Given the description of an element on the screen output the (x, y) to click on. 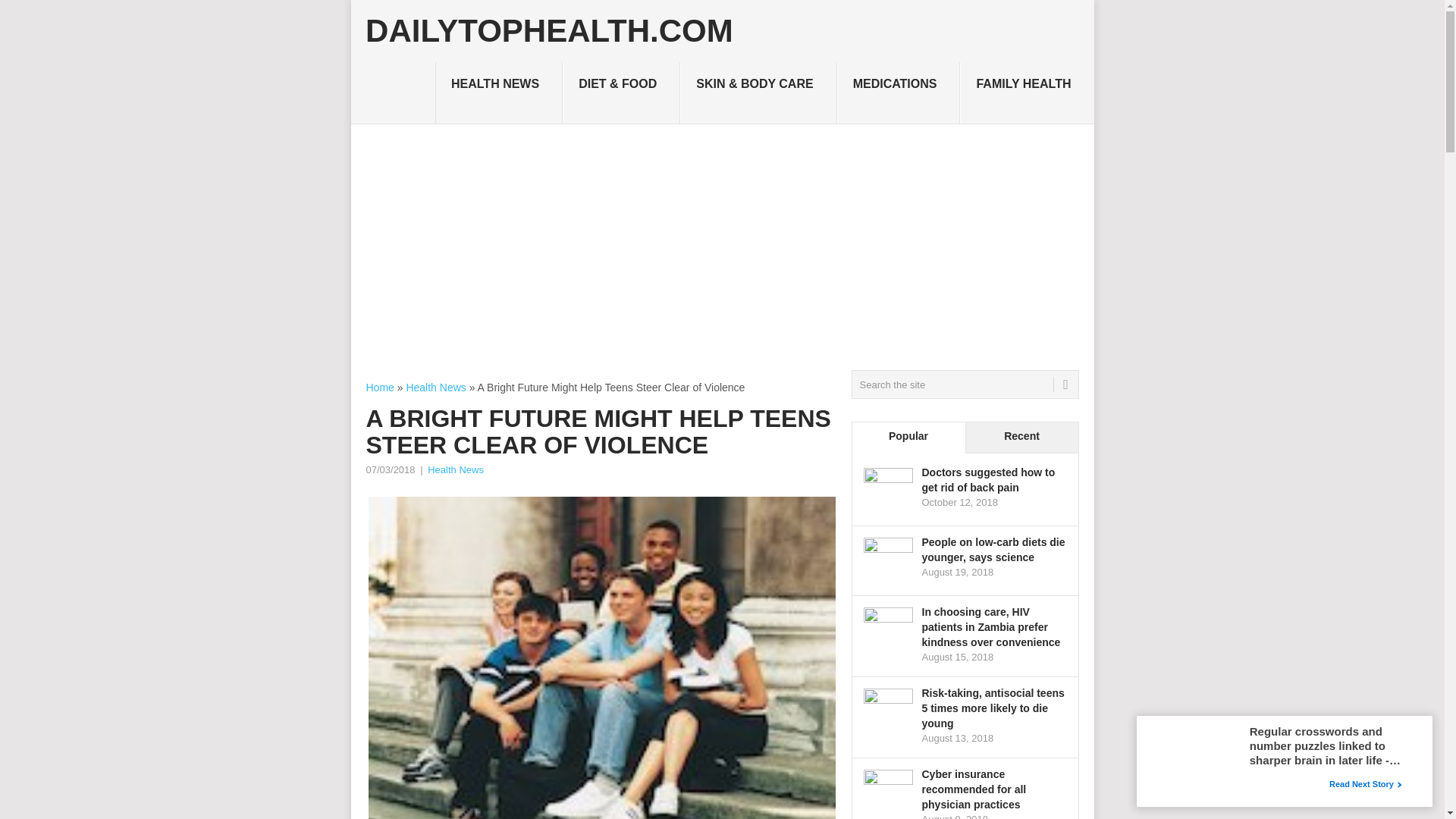
Search the site (964, 384)
MEDICATIONS (898, 93)
Home (379, 387)
Health News (435, 387)
DAILYTOPHEALTH.COM (549, 30)
Health News (455, 469)
FAMILY HEALTH (1026, 93)
HEALTH NEWS (498, 93)
